Given the description of an element on the screen output the (x, y) to click on. 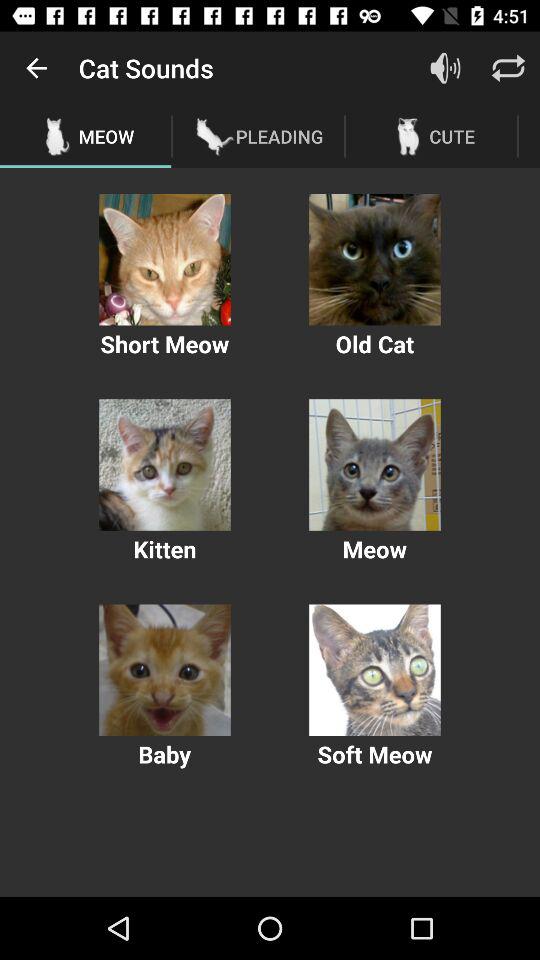
launch item to the right of pleading (444, 67)
